Given the description of an element on the screen output the (x, y) to click on. 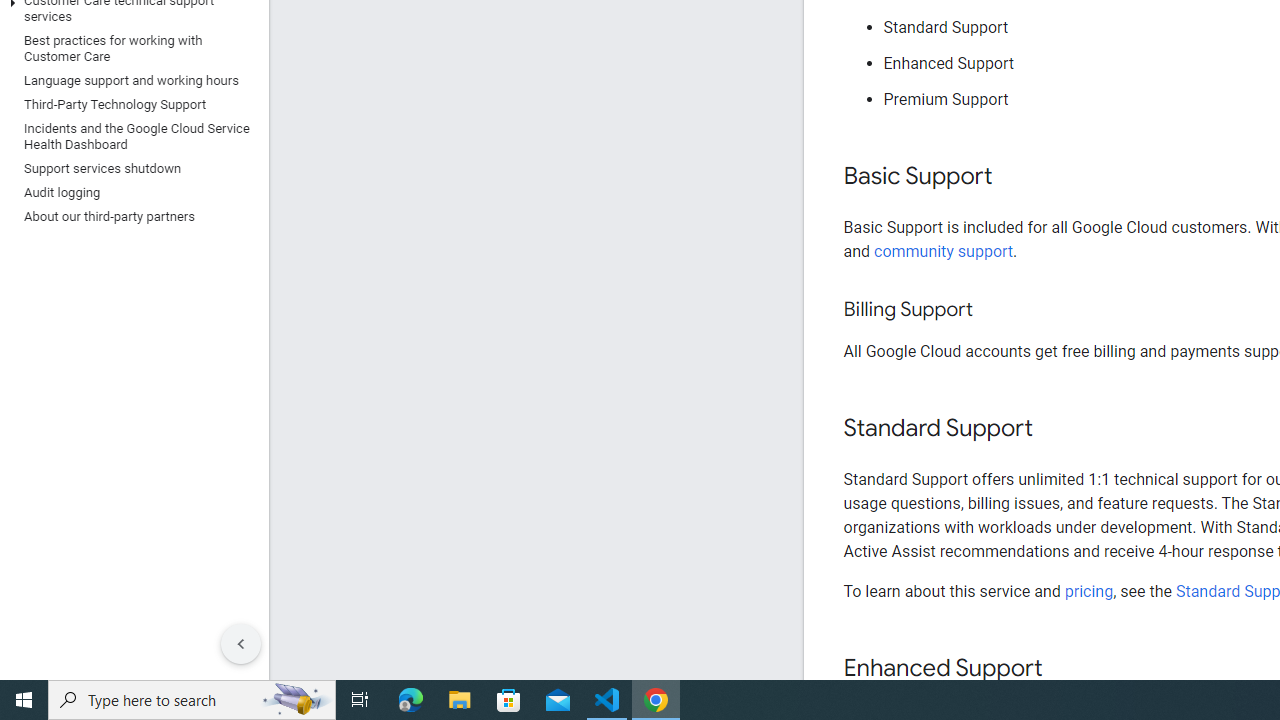
Copy link to this section: Billing Support (991, 310)
Incidents and the Google Cloud Service Health Dashboard (130, 136)
Audit logging (130, 192)
Copy link to this section: Basic Support (1012, 177)
Copy link to this section: Enhanced Support (1061, 668)
Language support and working hours (130, 80)
community support (943, 250)
pricing (1088, 591)
Support services shutdown (130, 168)
Copy link to this section: Standard Support (1052, 429)
Hide side navigation (241, 643)
About our third-party partners (130, 216)
Best practices for working with Customer Care (130, 48)
Third-Party Technology Support (130, 104)
